Given the description of an element on the screen output the (x, y) to click on. 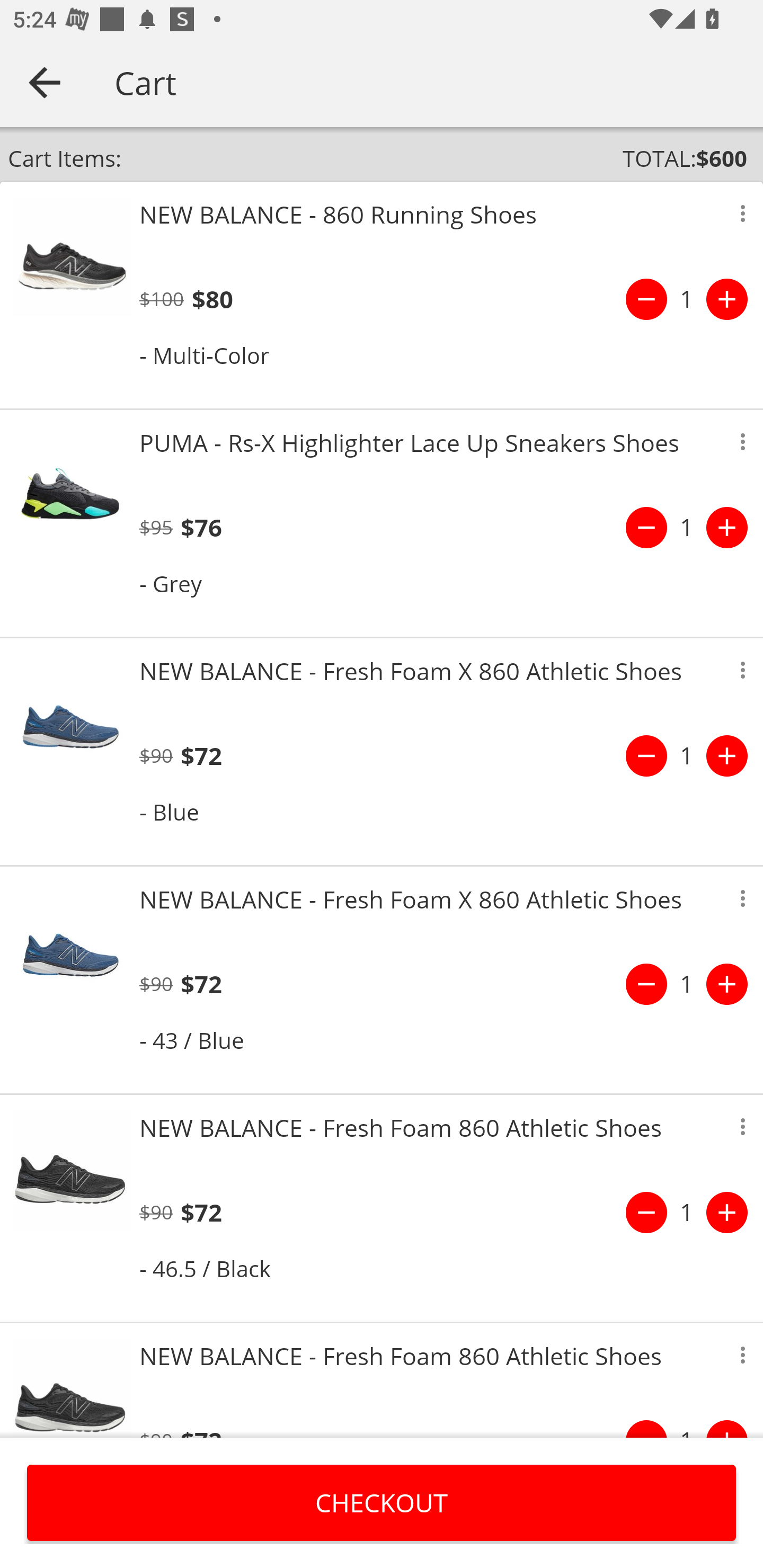
Navigate up (44, 82)
1 (686, 299)
1 (686, 527)
1 (686, 755)
1 (686, 984)
1 (686, 1211)
CHECKOUT (381, 1502)
